Given the description of an element on the screen output the (x, y) to click on. 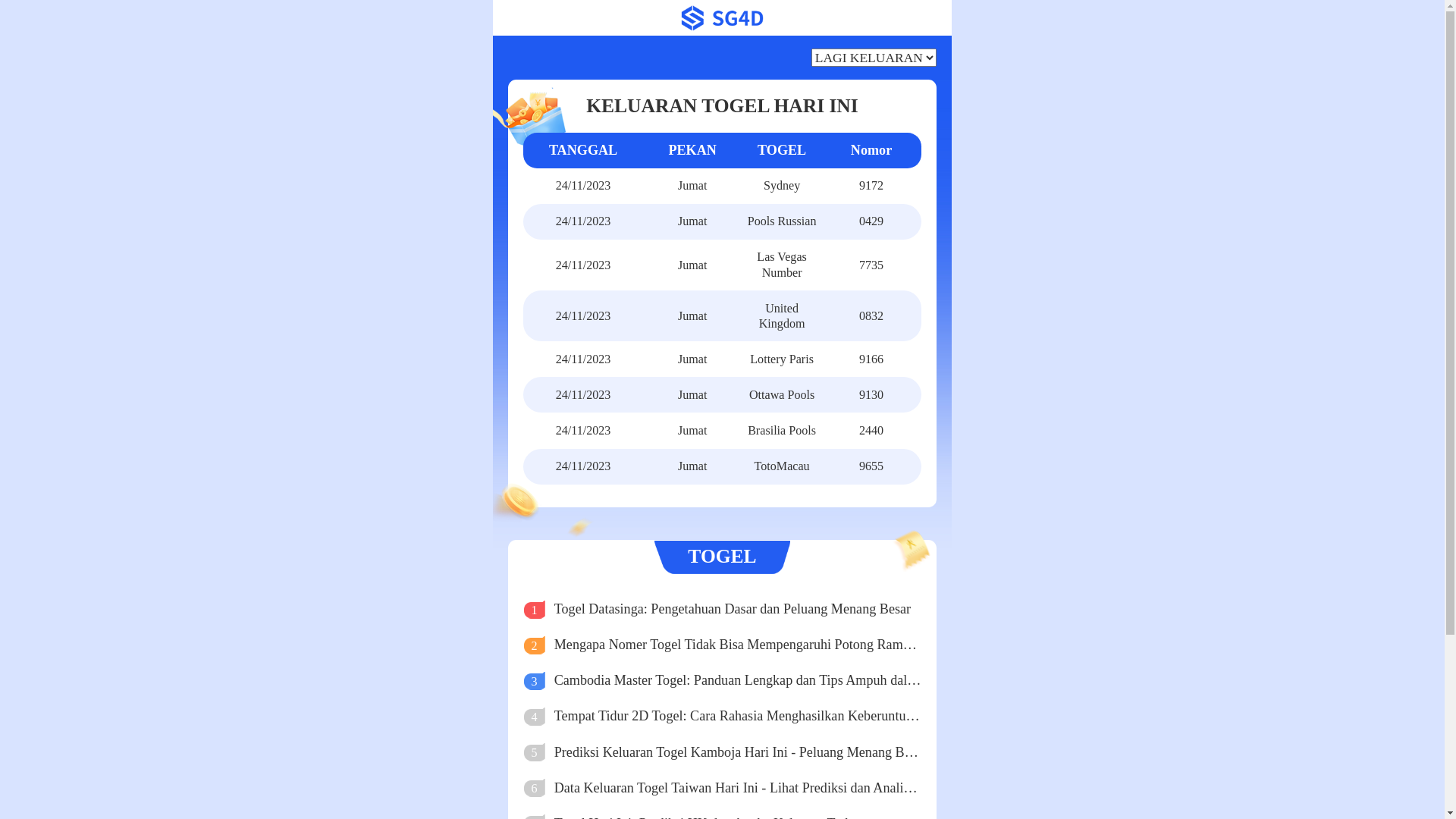
Togel Datasinga: Pengetahuan Dasar dan Peluang Menang Besar Element type: text (737, 609)
